Given the description of an element on the screen output the (x, y) to click on. 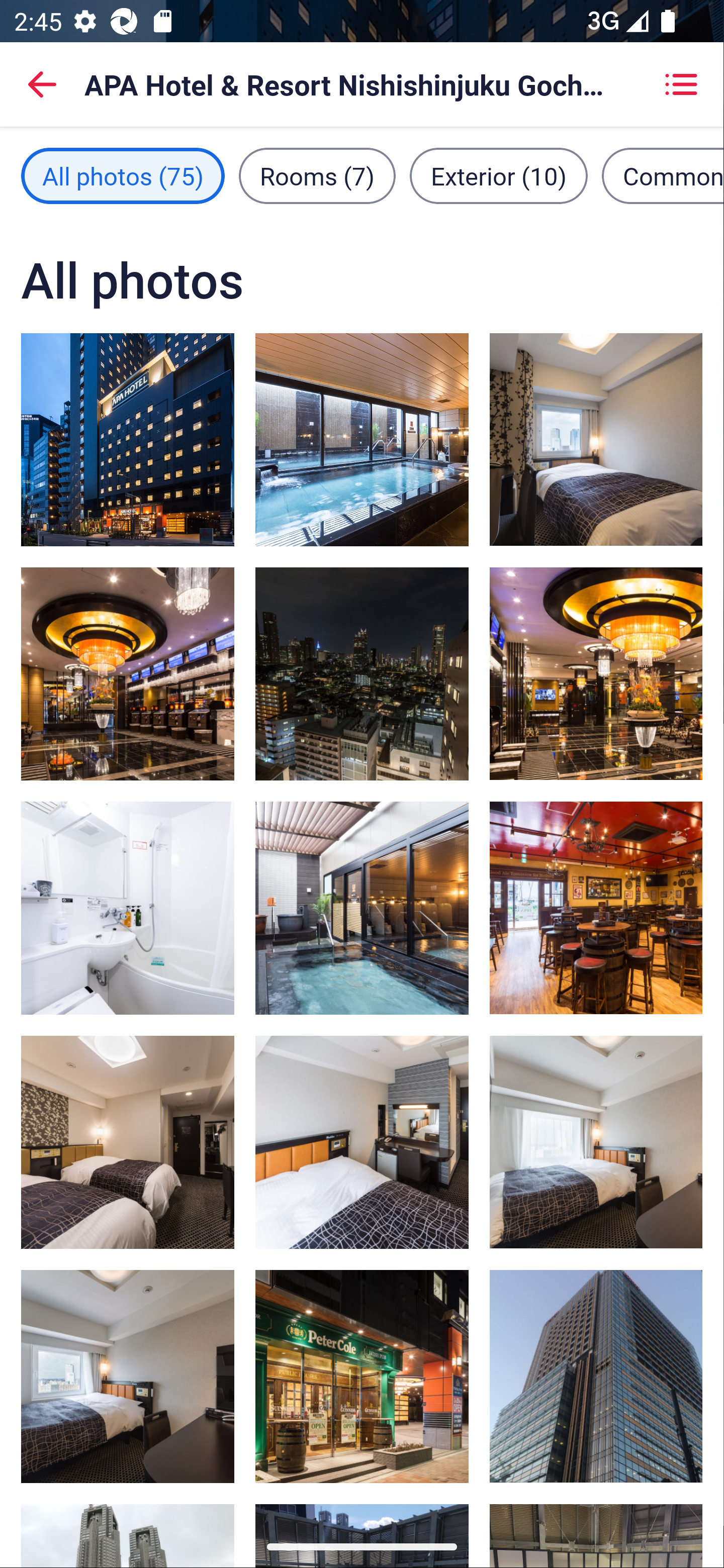
Back (42, 84)
Showing grid view (681, 84)
All photos filter, 75 images (122, 175)
Rooms filter, 7 images (317, 175)
Exterior filter, 10 images (498, 175)
Common areas filter, 7 images (662, 175)
Exterior, image (127, 438)
Public bath, image (361, 438)
Lobby, image (127, 673)
View from property, image (361, 673)
Lobby, image (595, 673)
Public bath, image (361, 907)
Daily buffet breakfast for a fee, image (595, 907)
Restaurant, image (361, 1376)
Point of interest, image (595, 1376)
